Given the description of an element on the screen output the (x, y) to click on. 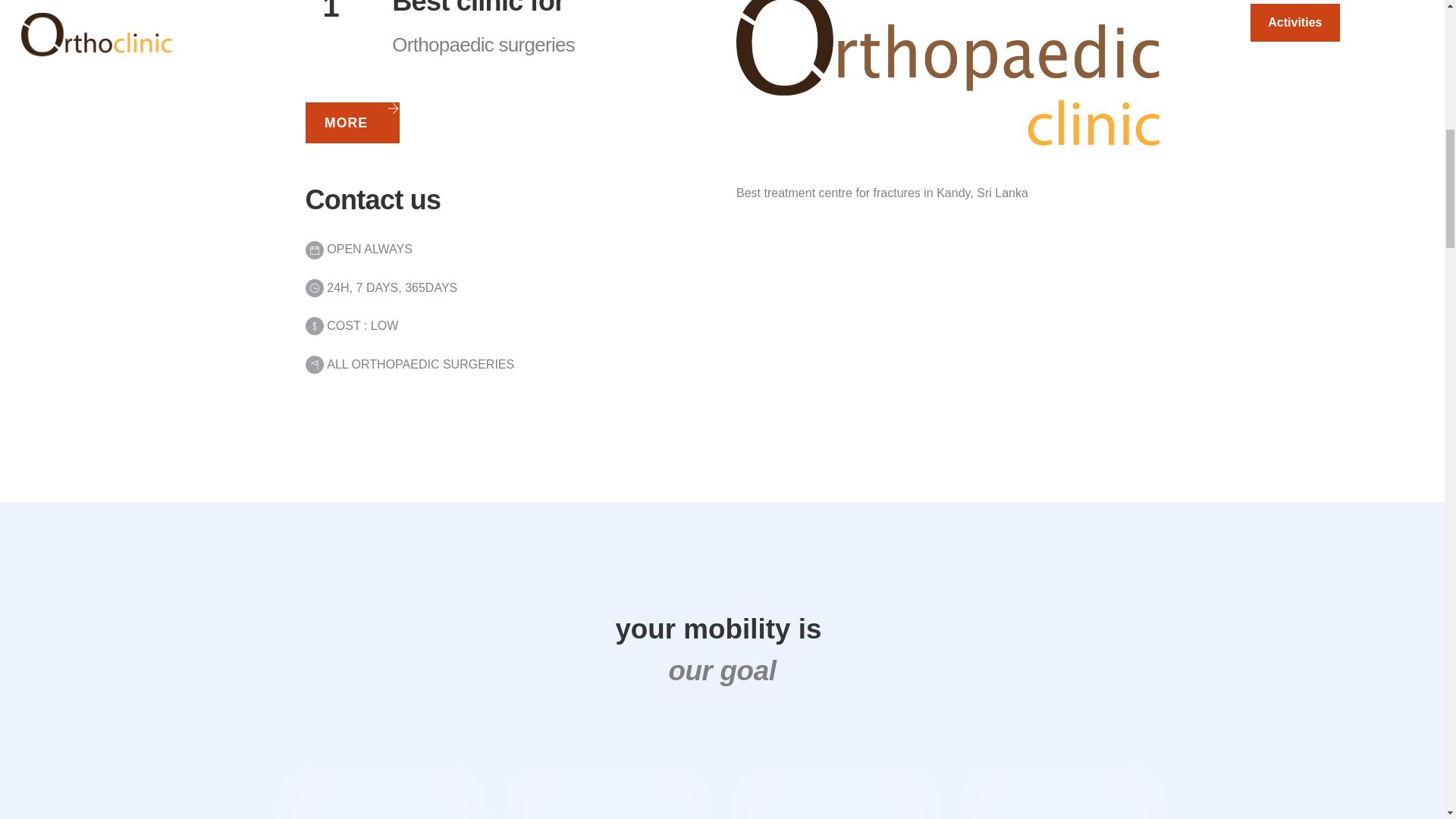
Jogging  (381, 796)
Ready To Run (835, 796)
Jogging Activity (608, 796)
Running  (1061, 796)
MORE (351, 123)
